Given the description of an element on the screen output the (x, y) to click on. 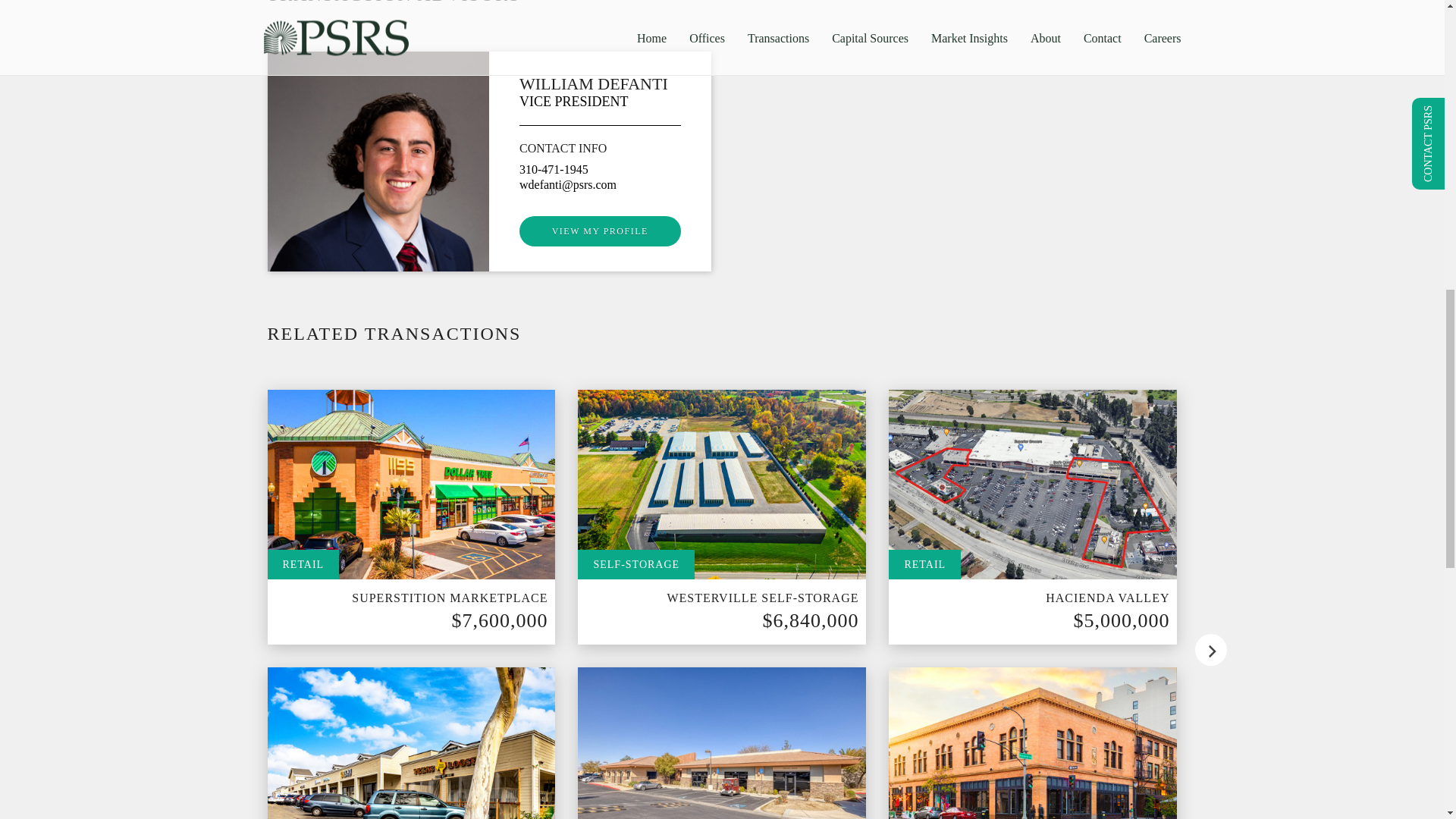
SUPERSTITION MARKETPLACE (449, 597)
WILLIAM DEFANTI (593, 83)
VIEW MY PROFILE (600, 231)
310-471-1945 (553, 169)
WESTERVILLE SELF-STORAGE (762, 597)
VIEW MY PROFILE (600, 231)
